Given the description of an element on the screen output the (x, y) to click on. 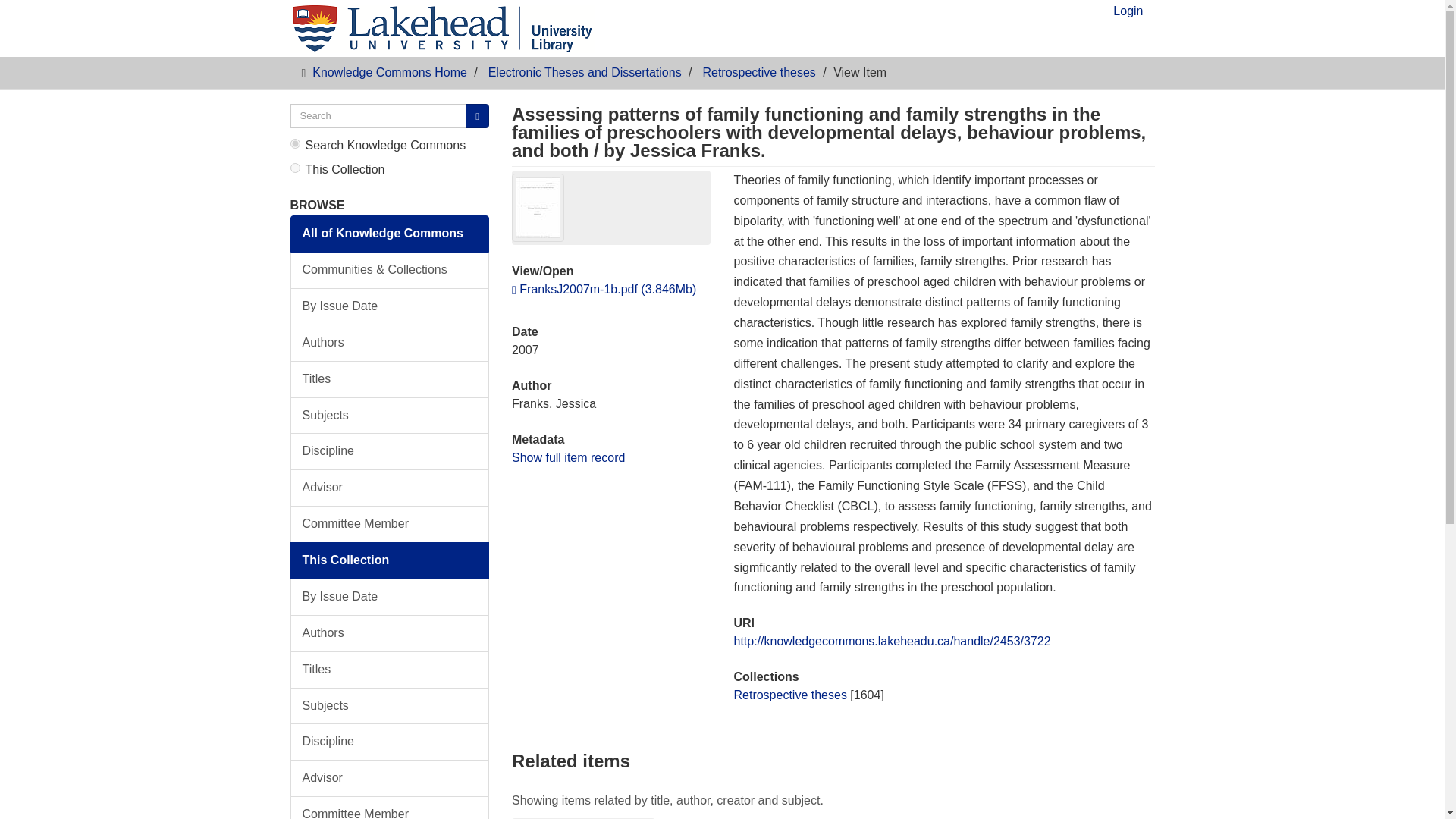
Login (1128, 15)
Retrospective theses (758, 72)
Authors (389, 342)
Advisor (389, 778)
Advisor (389, 487)
Discipline (389, 741)
Electronic Theses and Dissertations (584, 72)
Subjects (389, 705)
This Collection (389, 560)
Go (477, 116)
